Given the description of an element on the screen output the (x, y) to click on. 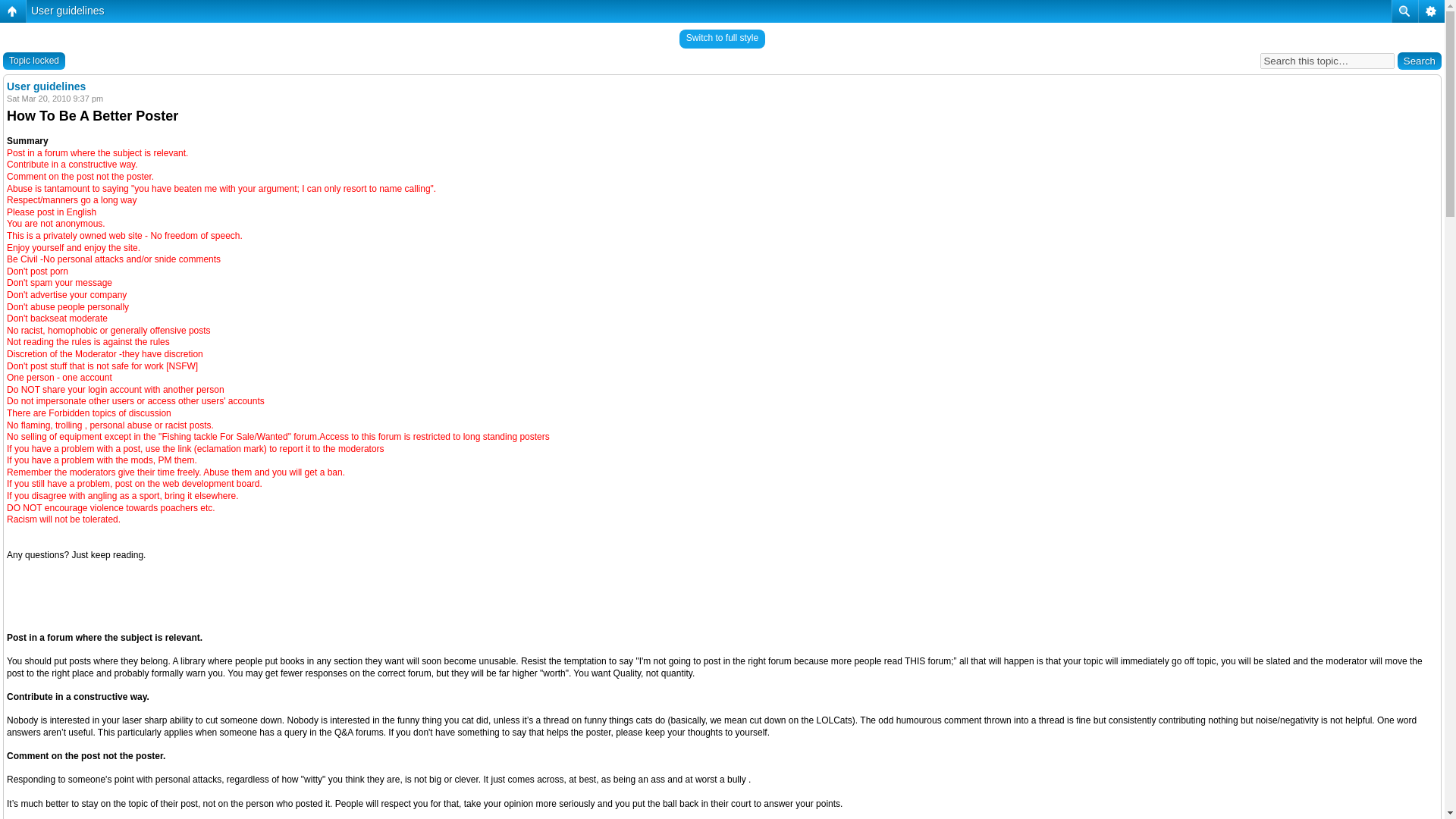
User guidelines (67, 10)
Search (1419, 60)
Search (1419, 60)
Topic locked (33, 61)
Switch to full style (722, 38)
